Given the description of an element on the screen output the (x, y) to click on. 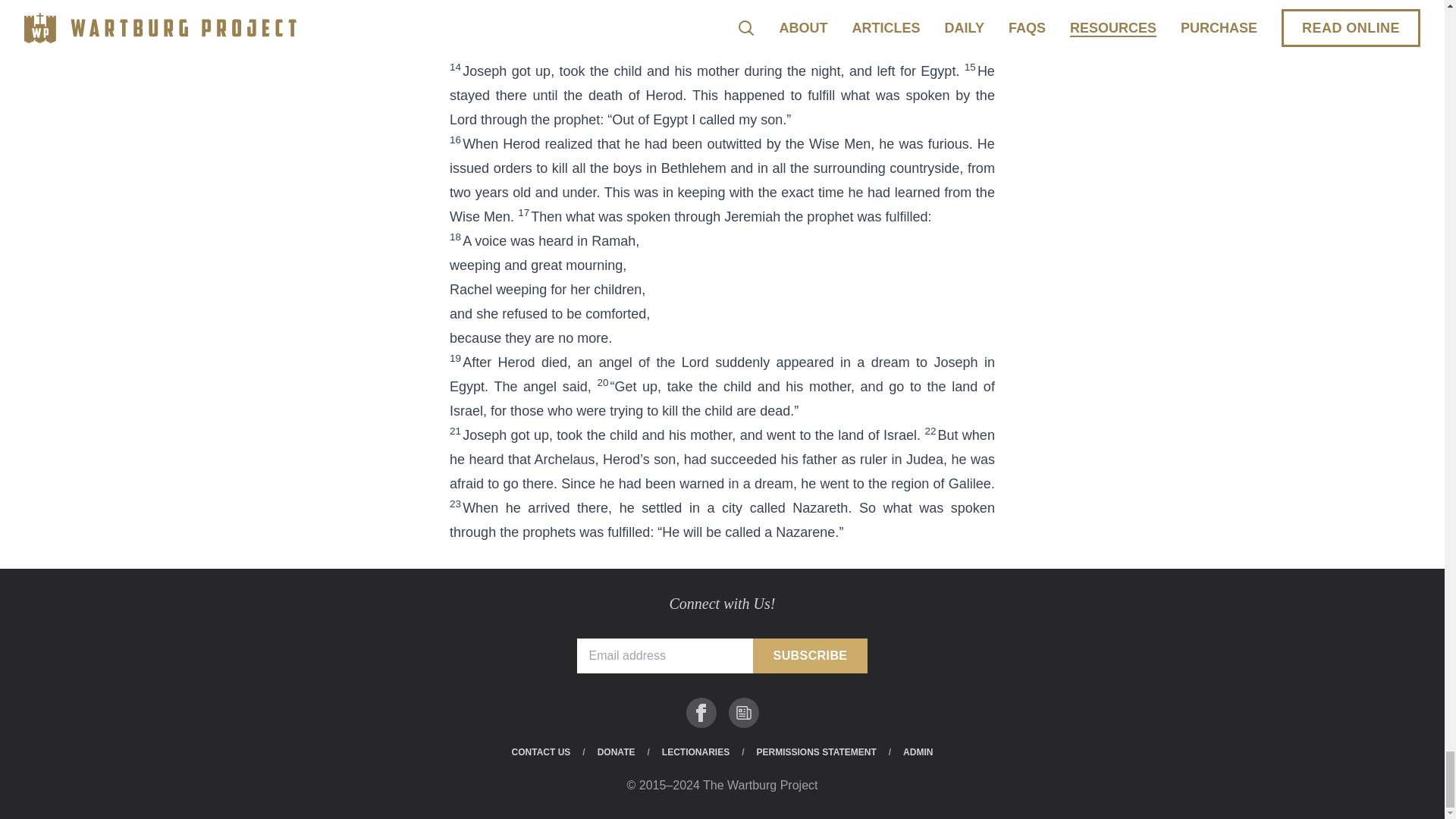
Newsletter (743, 712)
LECTIONARIES (695, 752)
ADMIN (917, 752)
SUBSCRIBE (809, 655)
DONATE (615, 752)
PERMISSIONS STATEMENT (816, 752)
CONTACT US (541, 752)
Facebook (700, 712)
